Given the description of an element on the screen output the (x, y) to click on. 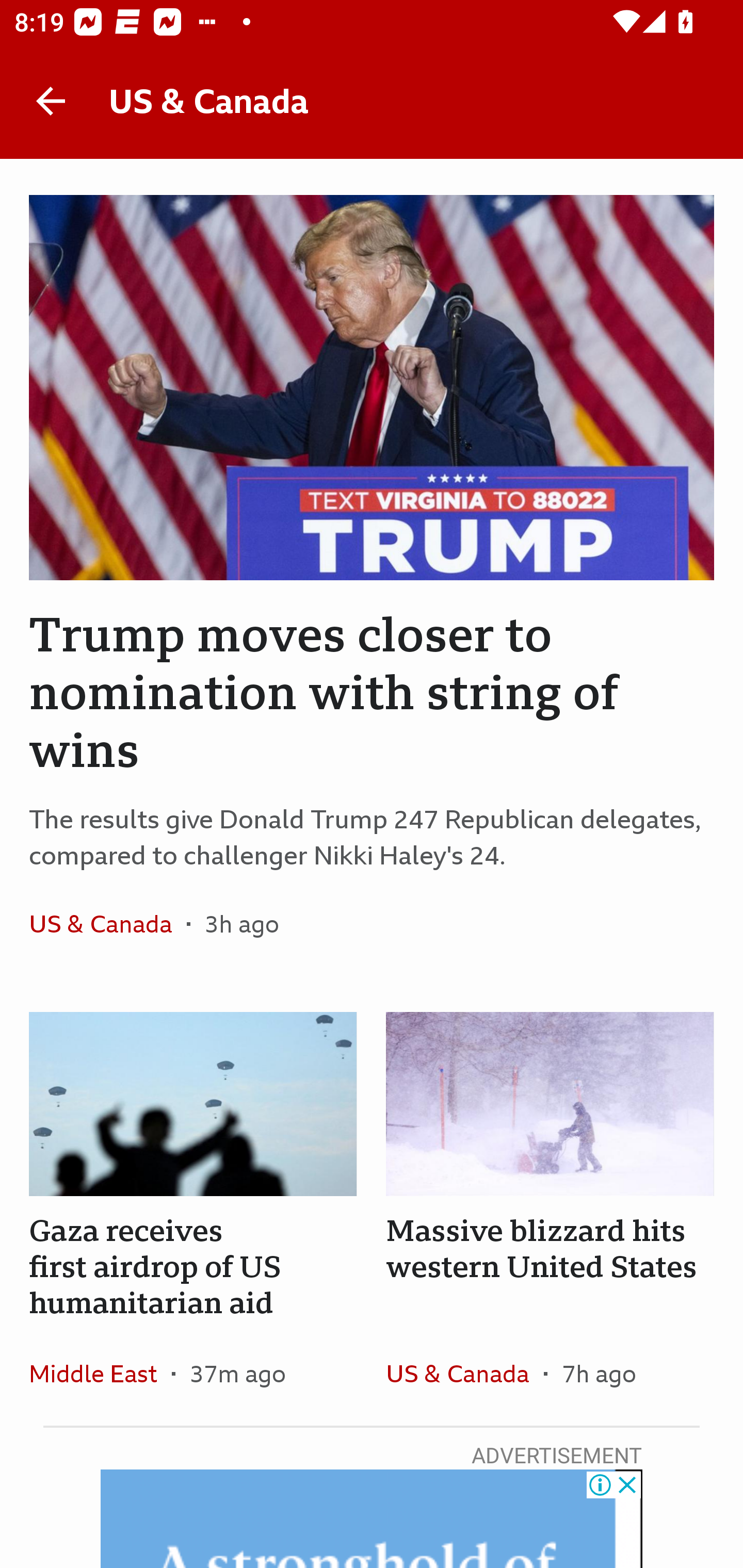
Back (50, 101)
US & Canada In the section US & Canada (107, 923)
Middle East In the section Middle East (99, 1373)
US & Canada In the section US & Canada (464, 1373)
